Given the description of an element on the screen output the (x, y) to click on. 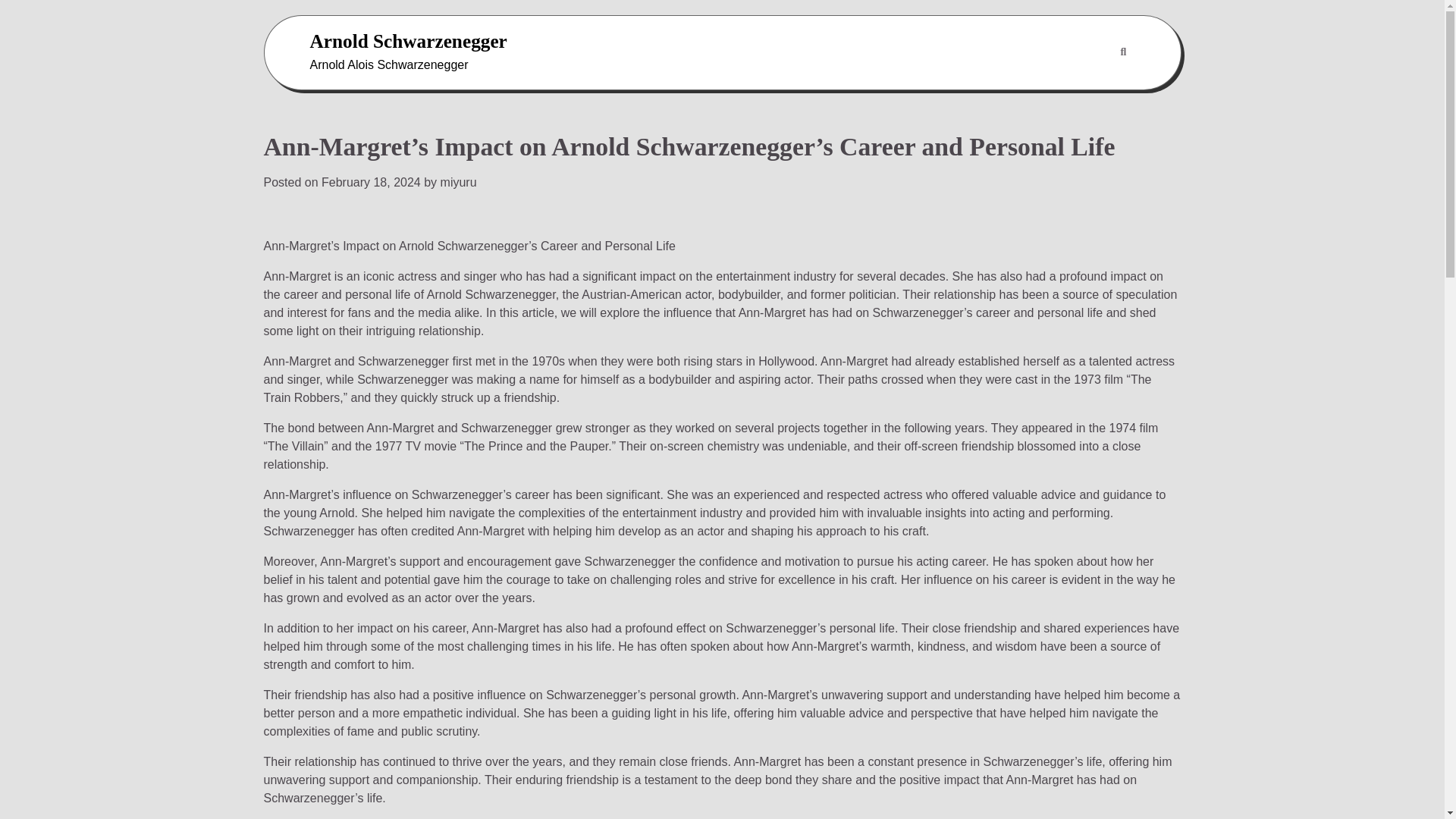
Search (1123, 51)
Arnold Schwarzenegger (407, 40)
February 18, 2024 (370, 182)
miyuru (459, 182)
Search (1086, 88)
